Given the description of an element on the screen output the (x, y) to click on. 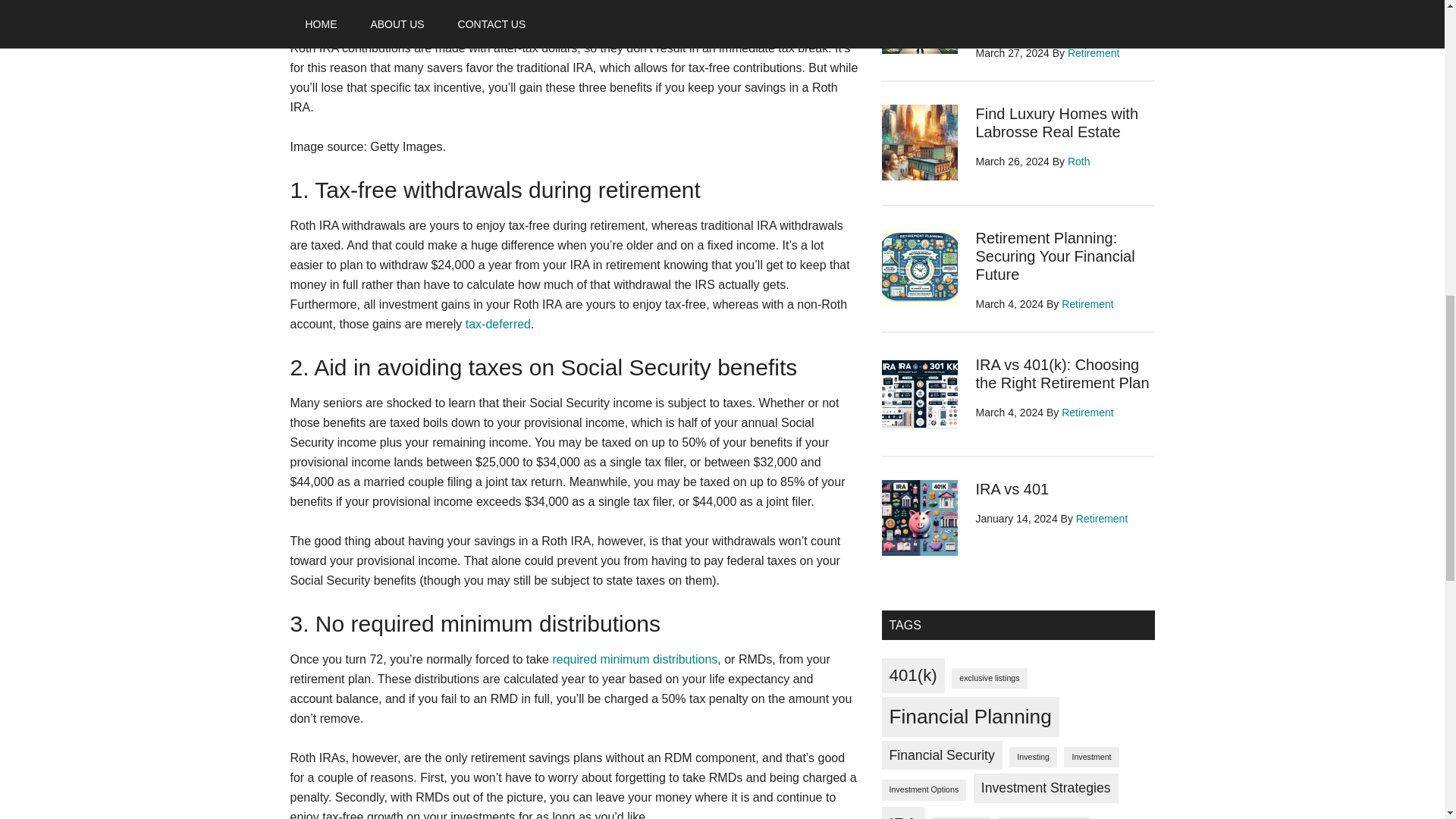
required minimum distributions (634, 658)
Retirement (1093, 52)
Roth (1078, 161)
Find Luxury Homes with Labrosse Real Estate (1056, 122)
tax-deferred (498, 323)
Roth IRA (314, 8)
